Given the description of an element on the screen output the (x, y) to click on. 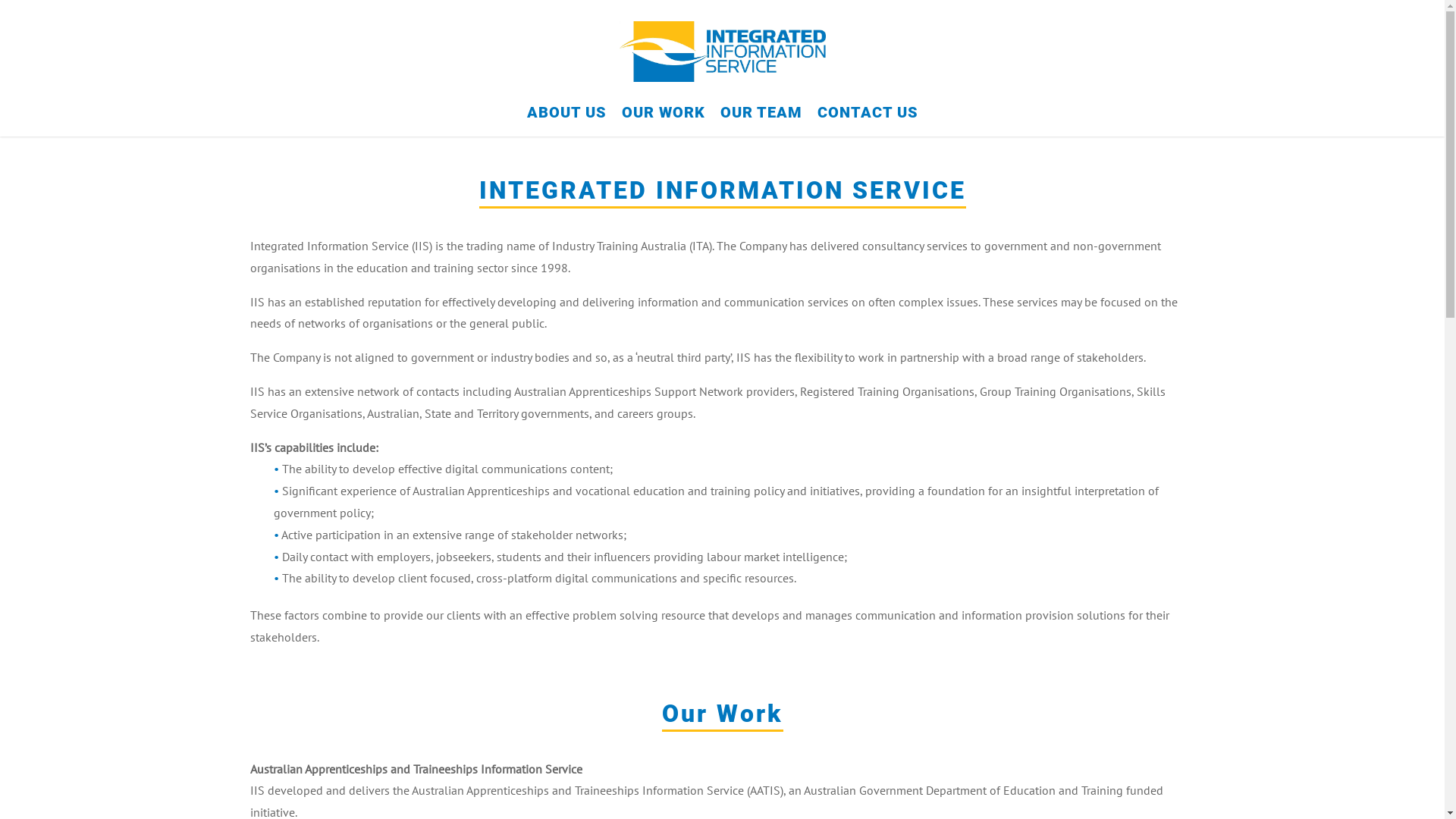
OUR TEAM Element type: text (761, 119)
CONTACT US Element type: text (867, 119)
OUR WORK Element type: text (663, 119)
ABOUT US Element type: text (565, 119)
